Given the description of an element on the screen output the (x, y) to click on. 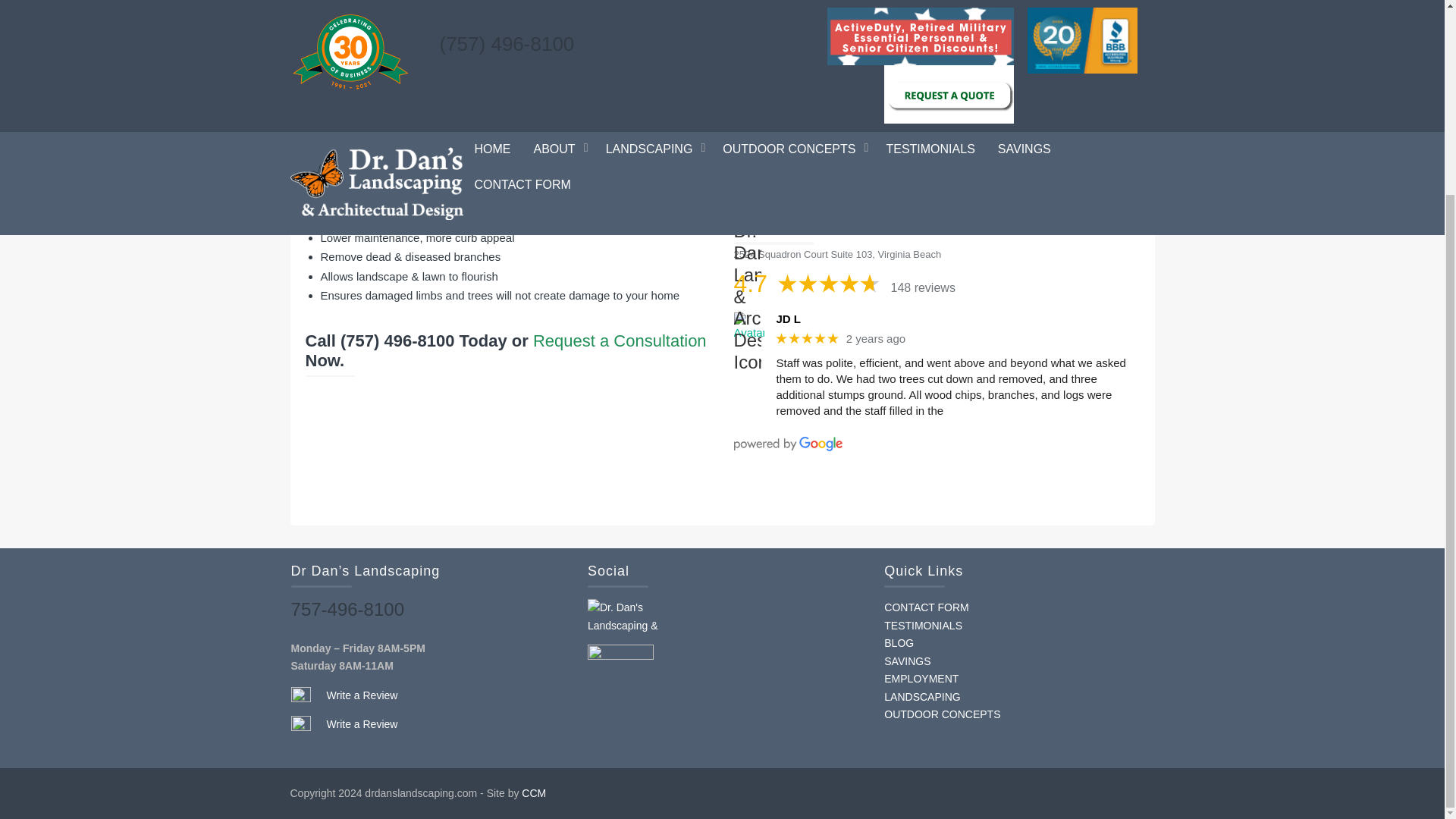
Powered by Google (788, 443)
drdans-banner1 (935, 90)
Commonwealth Creative Marketing (533, 793)
Search (802, 88)
